Given the description of an element on the screen output the (x, y) to click on. 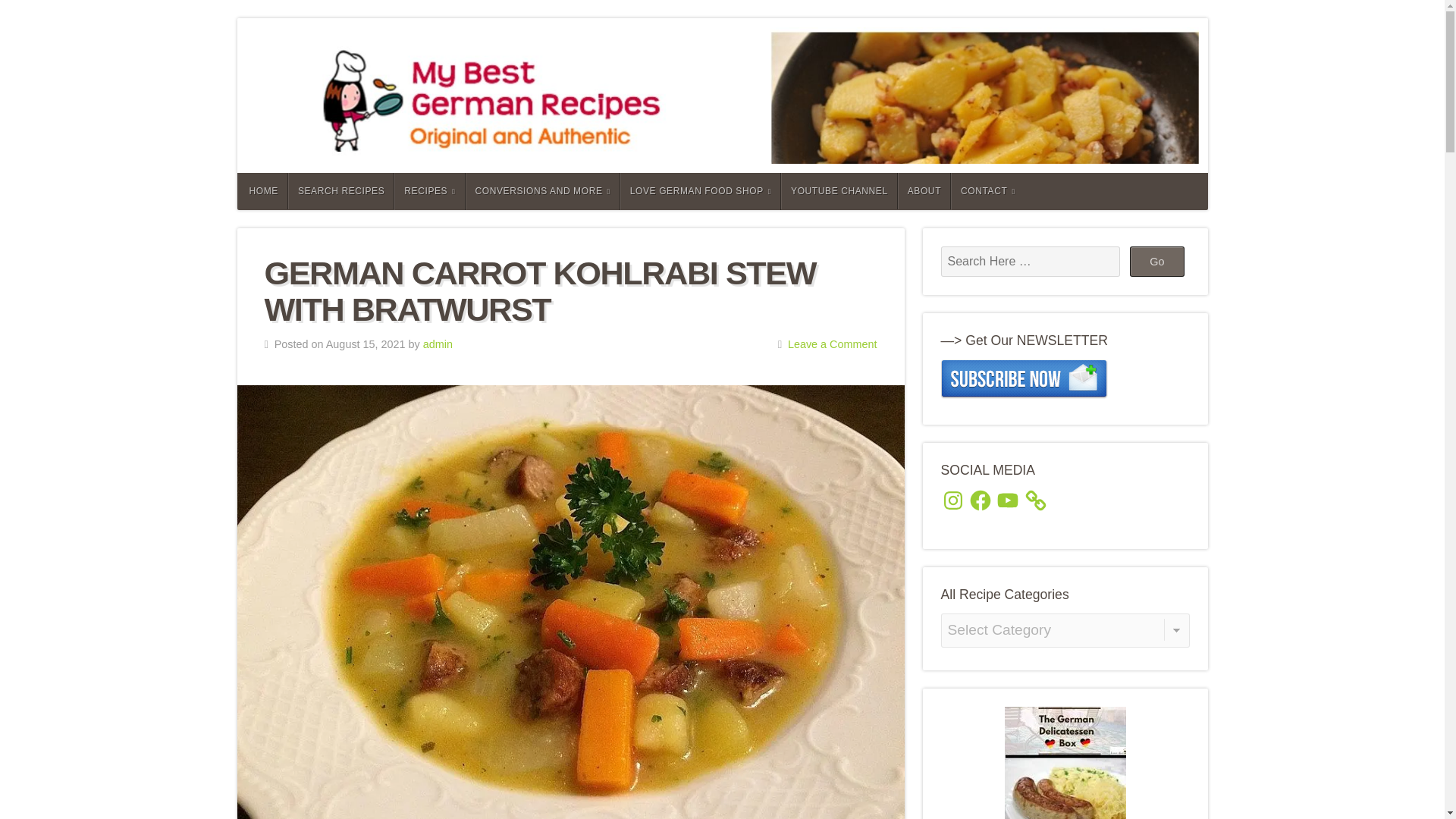
admin (437, 344)
RECIPES (429, 190)
LOVE GERMAN FOOD SHOP (700, 190)
SEARCH RECIPES (341, 190)
Leave a Comment (832, 344)
CONVERSIONS AND MORE (542, 190)
Posts by admin (437, 344)
CONTACT (987, 190)
We Send the Best German Recipes to You! (1023, 378)
YOUTUBE CHANNEL (839, 190)
HOME (260, 190)
ABOUT (924, 190)
Leave a Comment (832, 344)
Go (1157, 261)
